Given the description of an element on the screen output the (x, y) to click on. 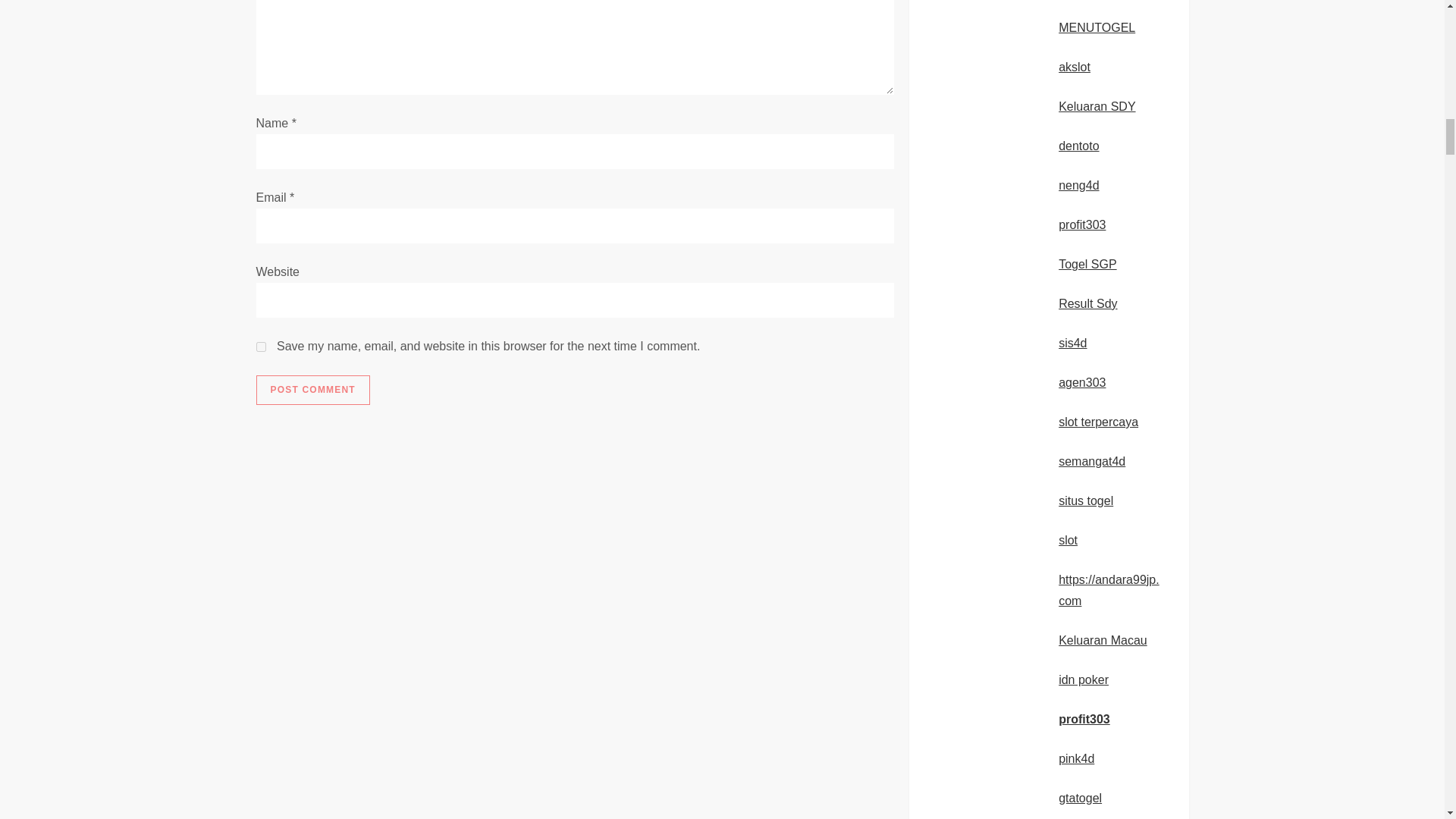
Post Comment (312, 390)
yes (261, 347)
Post Comment (312, 390)
